Given the description of an element on the screen output the (x, y) to click on. 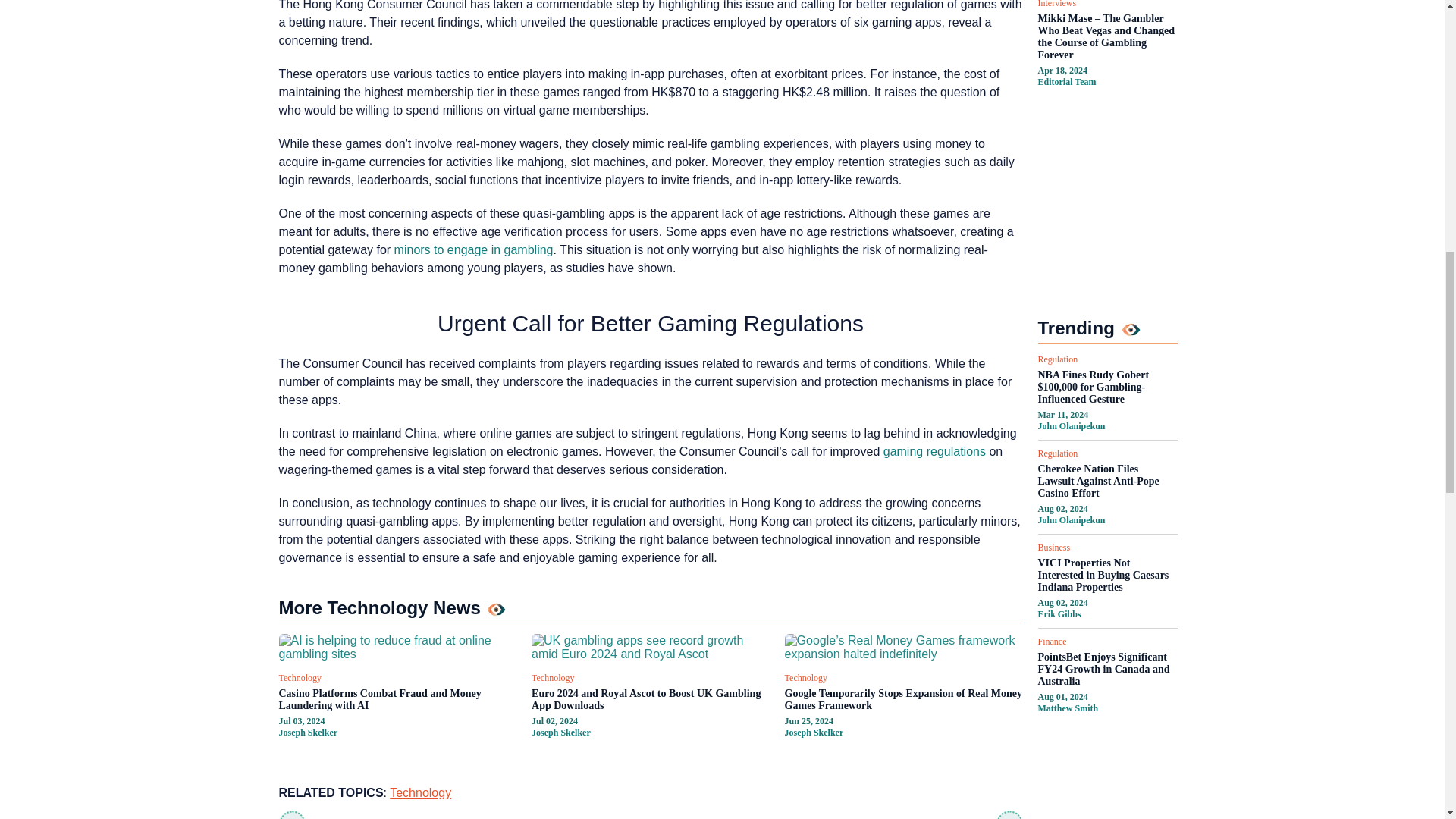
Joseph Skelker (561, 732)
minors to engage in gambling (473, 249)
gaming regulations (934, 451)
Joseph Skelker (308, 732)
Casino Platforms Combat Fraud and Money Laundering with AI (397, 699)
Euro 2024 and Royal Ascot to Boost UK Gambling App Downloads (650, 699)
